Given the description of an element on the screen output the (x, y) to click on. 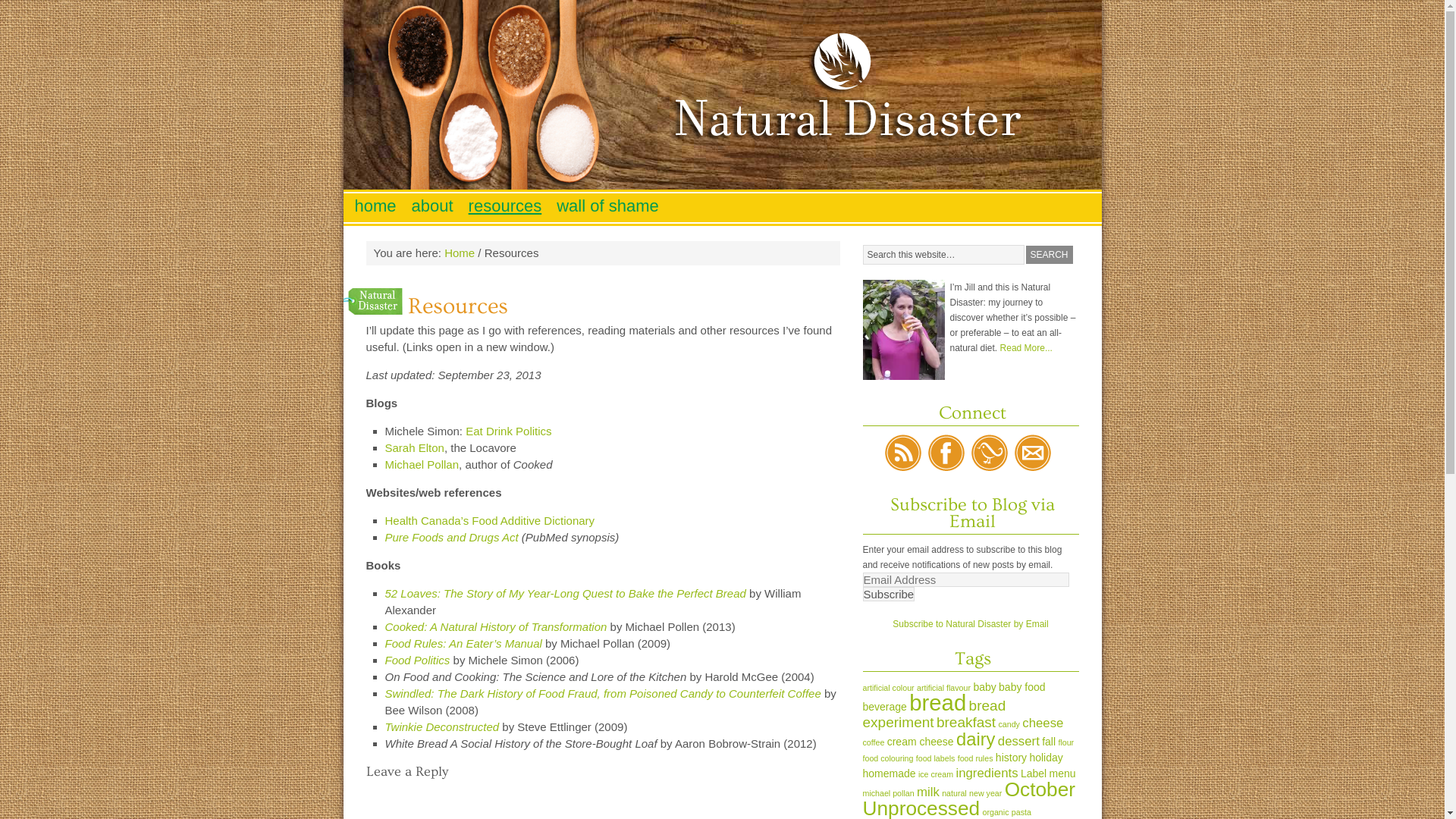
email me Element type: hover (1032, 452)
Pure Foods and Drugs Act Element type: text (451, 536)
michael pollan Element type: text (888, 792)
holiday Element type: text (1045, 757)
wall of shame Element type: text (607, 205)
history Element type: text (1010, 757)
Search Element type: text (1048, 254)
ingredients Element type: text (986, 772)
bread Element type: text (937, 702)
Subscribe to Natural Disaster by Email Element type: text (970, 623)
follow me on twitter Element type: hover (989, 452)
breakfast Element type: text (965, 722)
food rules Element type: text (975, 757)
baby food Element type: text (1021, 686)
connect with me on facebook Element type: hover (946, 452)
baby Element type: text (983, 686)
Twinkie Deconstructed Element type: text (442, 726)
food colouring Element type: text (887, 757)
Food Additive Dictionary Element type: text (532, 520)
cheese Element type: text (1042, 722)
organic Element type: text (995, 811)
new year Element type: text (985, 792)
Home Element type: text (459, 252)
subscribe to my feed Element type: hover (903, 452)
resources Element type: text (505, 205)
Eat Drink Politics Element type: text (508, 430)
Food Politics Element type: text (417, 659)
Read More... Element type: text (1026, 347)
ice cream Element type: text (935, 773)
Label Element type: text (1033, 773)
dairy Element type: text (975, 738)
fall Element type: text (1048, 741)
pasta Element type: text (1021, 811)
beverage Element type: text (884, 706)
about Element type: text (432, 205)
dessert Element type: text (1018, 741)
flour Element type: text (1065, 741)
home Element type: text (375, 205)
coffee Element type: text (873, 741)
food labels Element type: text (935, 757)
candy Element type: text (1008, 723)
Michael Pollan Element type: text (422, 464)
menu Element type: text (1062, 773)
Sarah Elton Element type: text (414, 447)
homemade Element type: text (889, 773)
natural Element type: text (953, 792)
artificial flavour Element type: text (943, 687)
milk Element type: text (927, 791)
cream cheese Element type: text (920, 741)
bread experiment Element type: text (934, 713)
Subscribe Element type: text (888, 593)
Cooked: A Natural History of Transformation Element type: text (496, 626)
artificial colour Element type: text (888, 687)
